Given the description of an element on the screen output the (x, y) to click on. 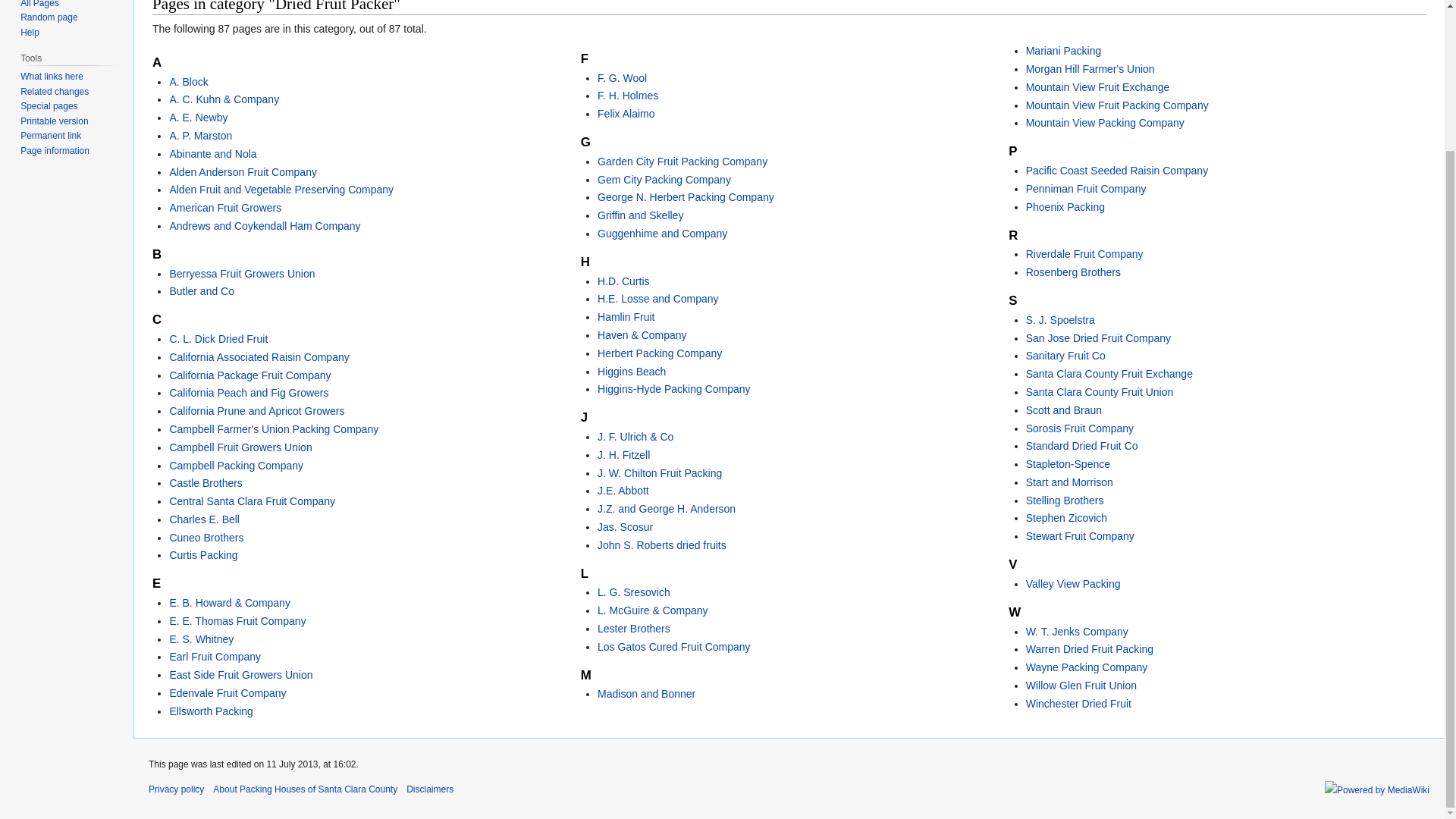
California Peach and Fig Growers (248, 392)
Earl Fruit Company (214, 656)
Butler and Co (201, 291)
California Associated Raisin Company (258, 357)
Alden Anderson Fruit Company (242, 172)
Gem City Packing Company (663, 179)
A. E. Newby (197, 117)
A. P. Marston (199, 135)
F. H. Holmes (627, 95)
Campbell Packing Company (235, 465)
